Given the description of an element on the screen output the (x, y) to click on. 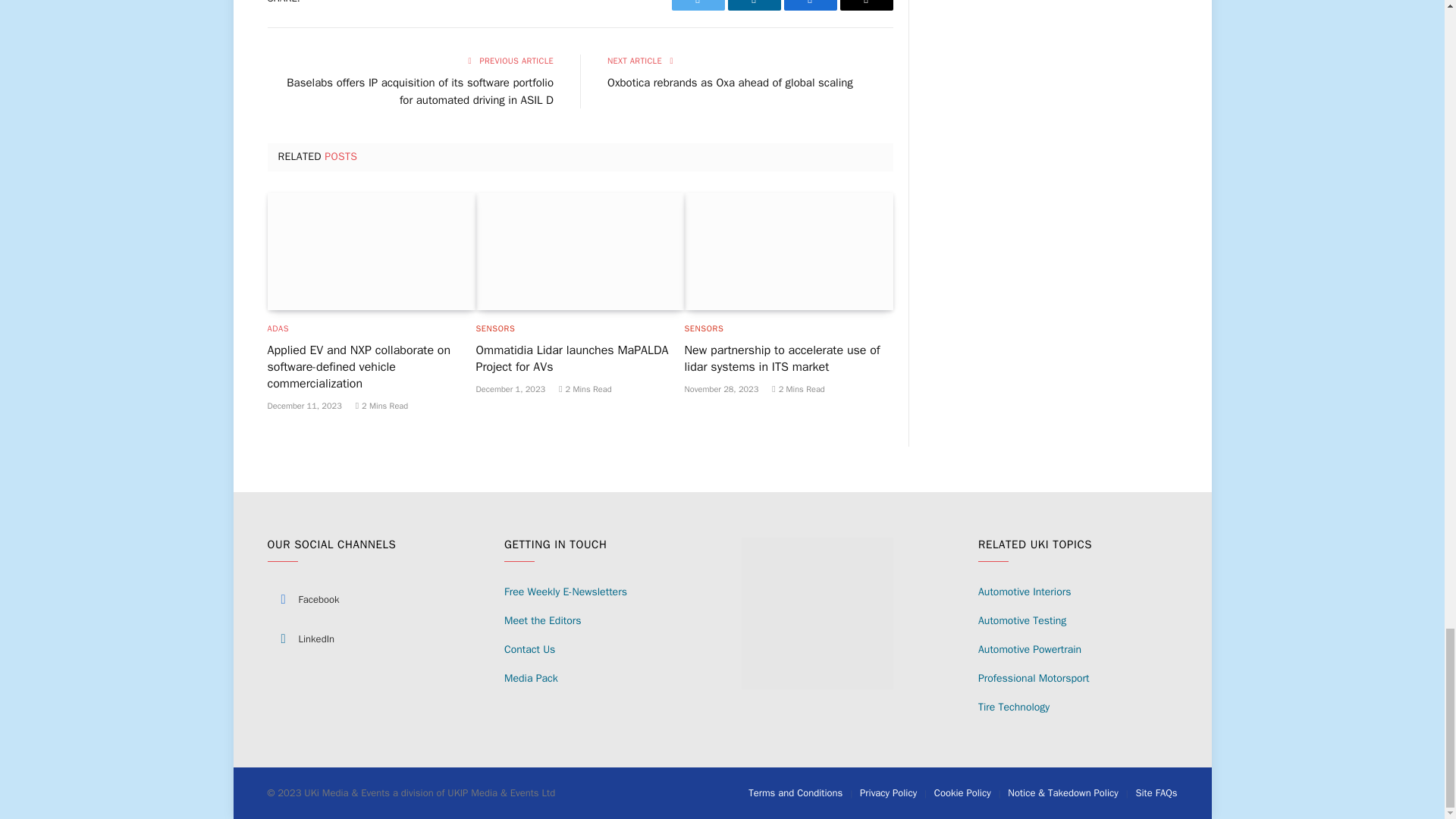
Share on Twitter (698, 5)
Share on LinkedIn (754, 5)
